Given the description of an element on the screen output the (x, y) to click on. 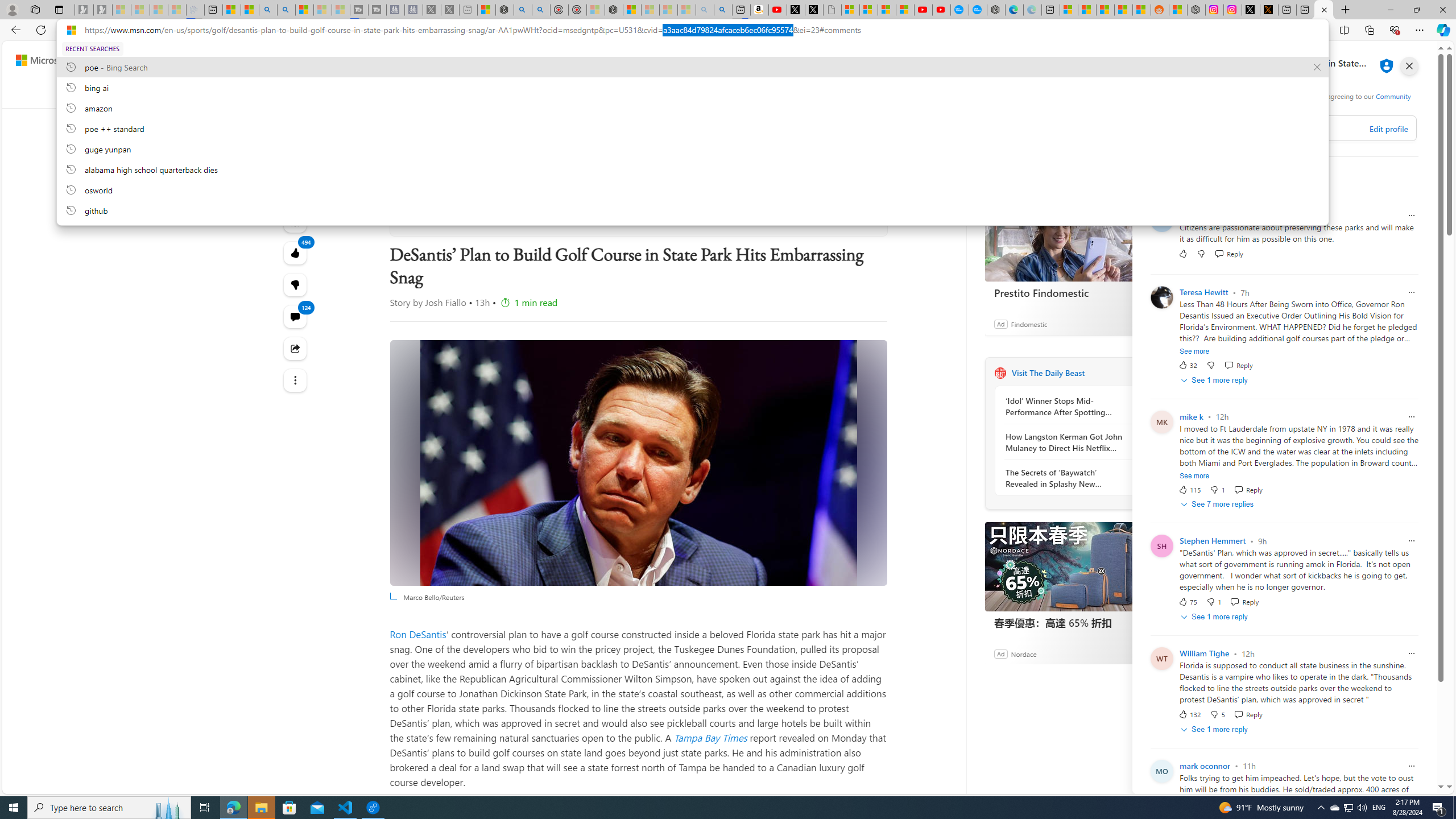
See 7 more replies (1218, 504)
Soccer (592, 92)
Sports (418, 92)
Show more topics (1074, 92)
New split screen (741, 9)
Skip to footer (46, 59)
NHL (521, 92)
Tennis (666, 92)
